Given the description of an element on the screen output the (x, y) to click on. 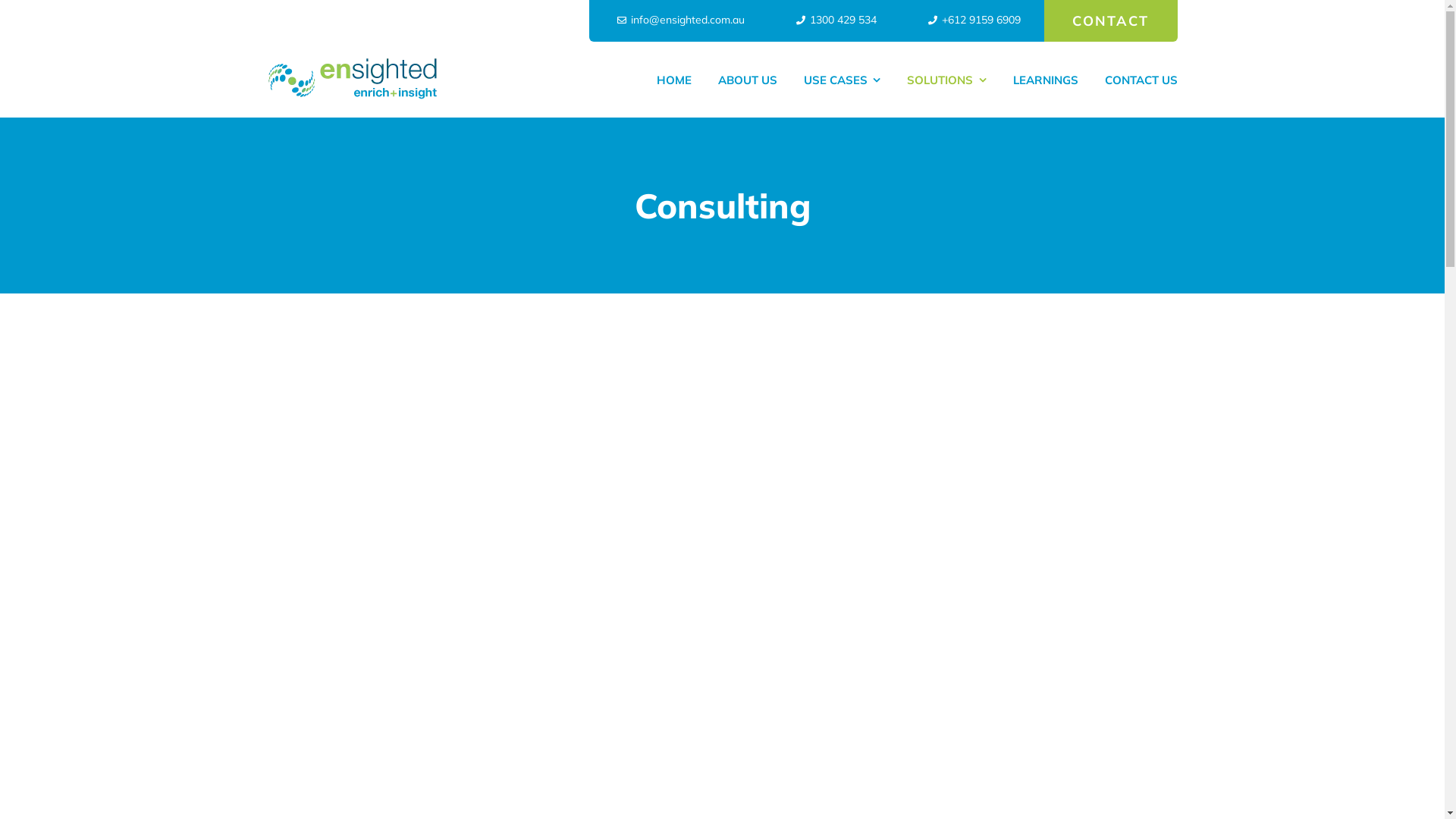
ABOUT US Element type: text (747, 79)
HOME Element type: text (673, 79)
CONTACT Element type: text (1110, 20)
USE CASES Element type: text (842, 79)
CONTACT US Element type: text (1140, 79)
LEARNINGS Element type: text (1045, 79)
SOLUTIONS Element type: text (946, 79)
